Given the description of an element on the screen output the (x, y) to click on. 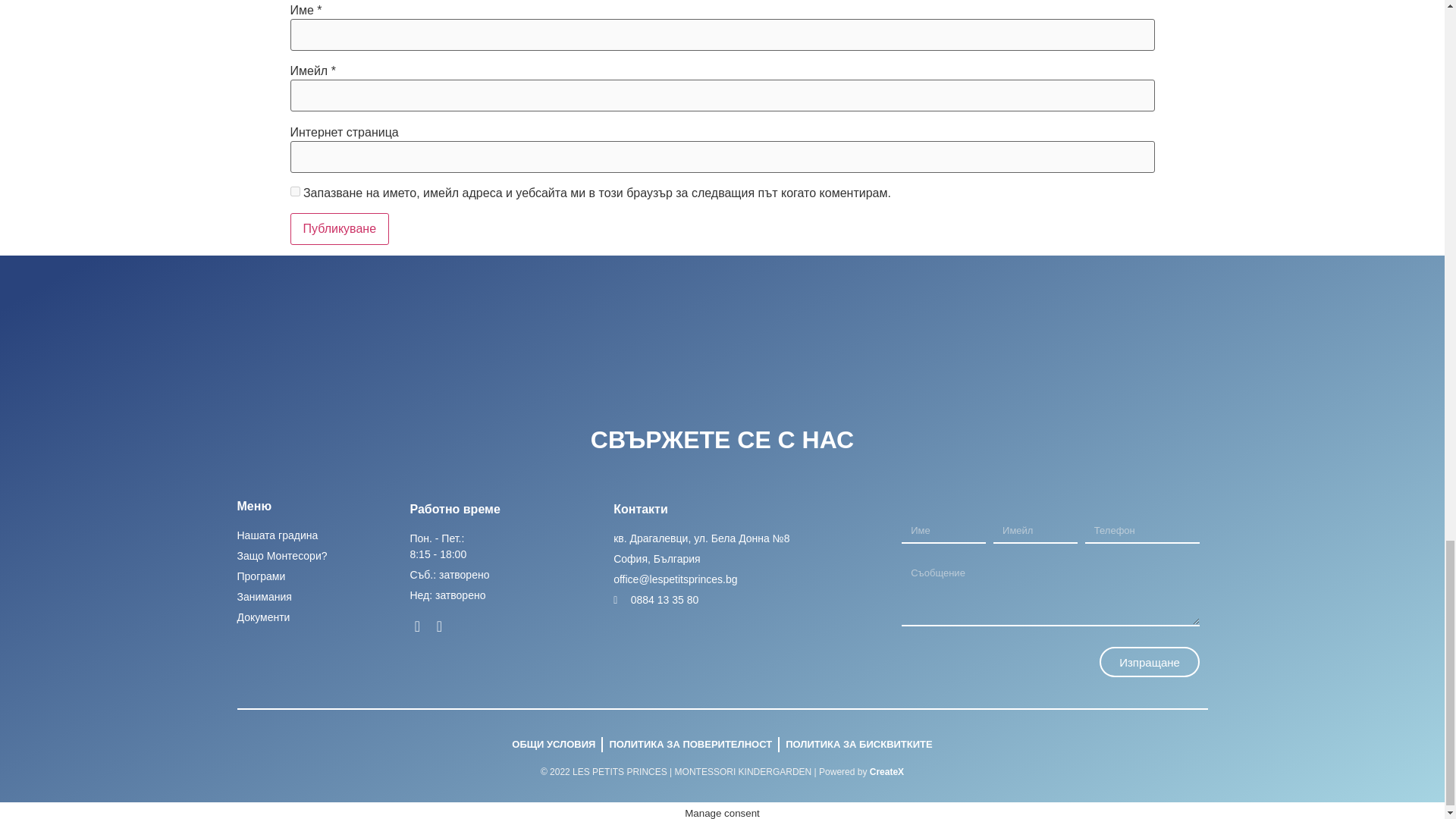
yes (294, 191)
